Given the description of an element on the screen output the (x, y) to click on. 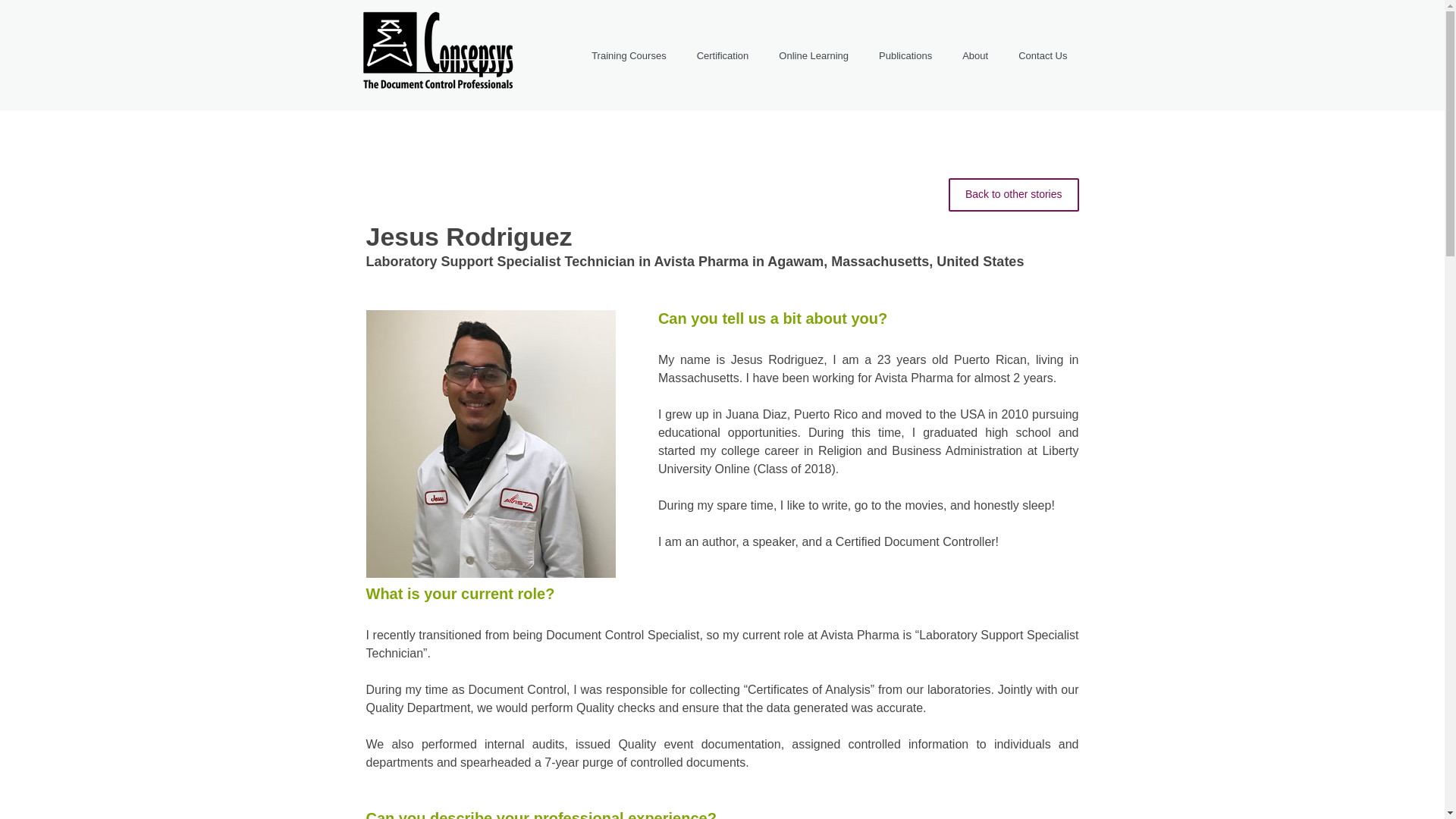
Certification (722, 55)
Online Learning (813, 55)
Training Courses (628, 55)
About (974, 55)
Publications (905, 55)
